Given the description of an element on the screen output the (x, y) to click on. 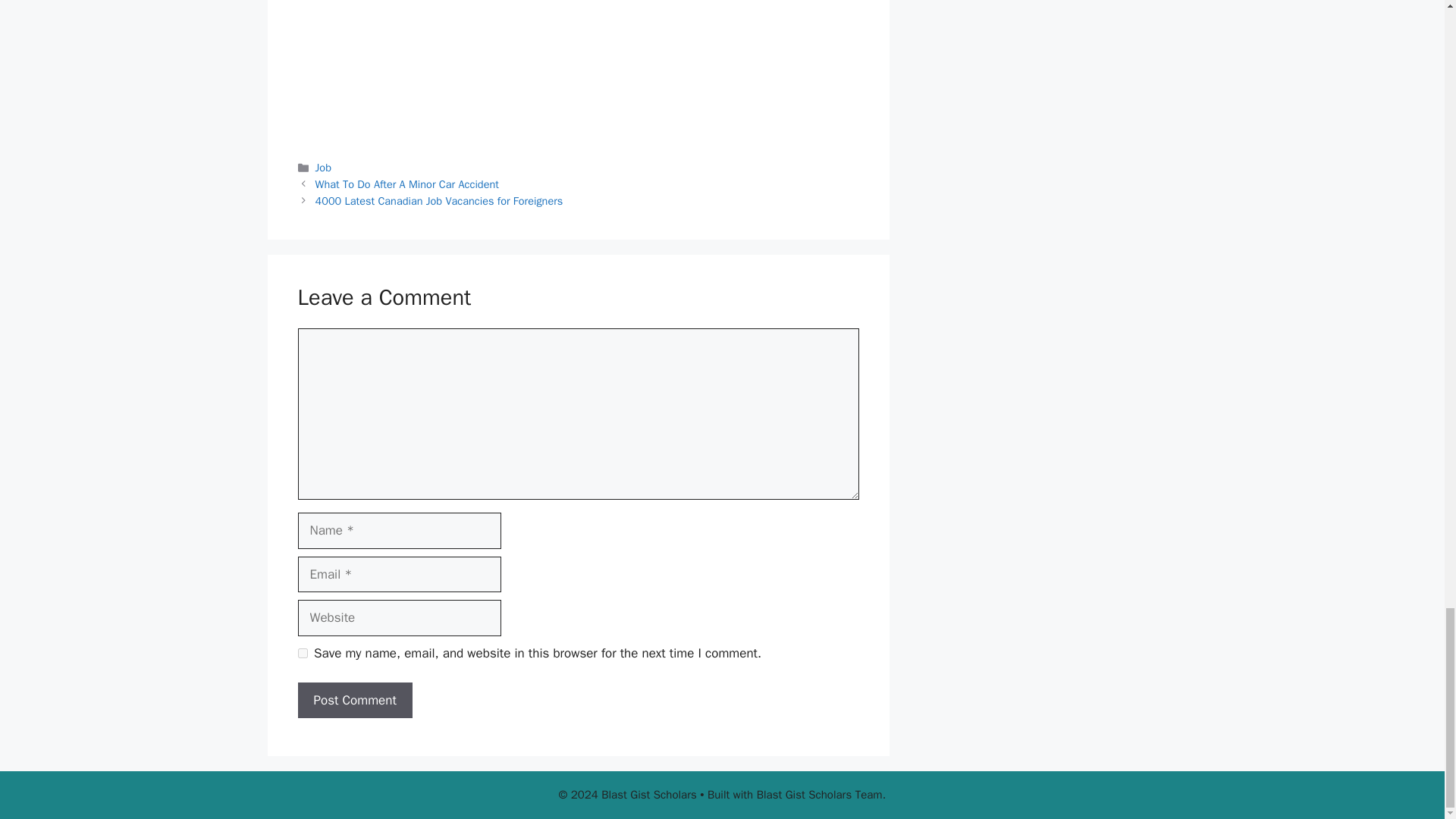
4000 Latest Canadian Job Vacancies for Foreigners (439, 201)
Post Comment (354, 700)
Job (323, 167)
Post Comment (354, 700)
What To Do After A Minor Car Accident (407, 183)
yes (302, 653)
